Given the description of an element on the screen output the (x, y) to click on. 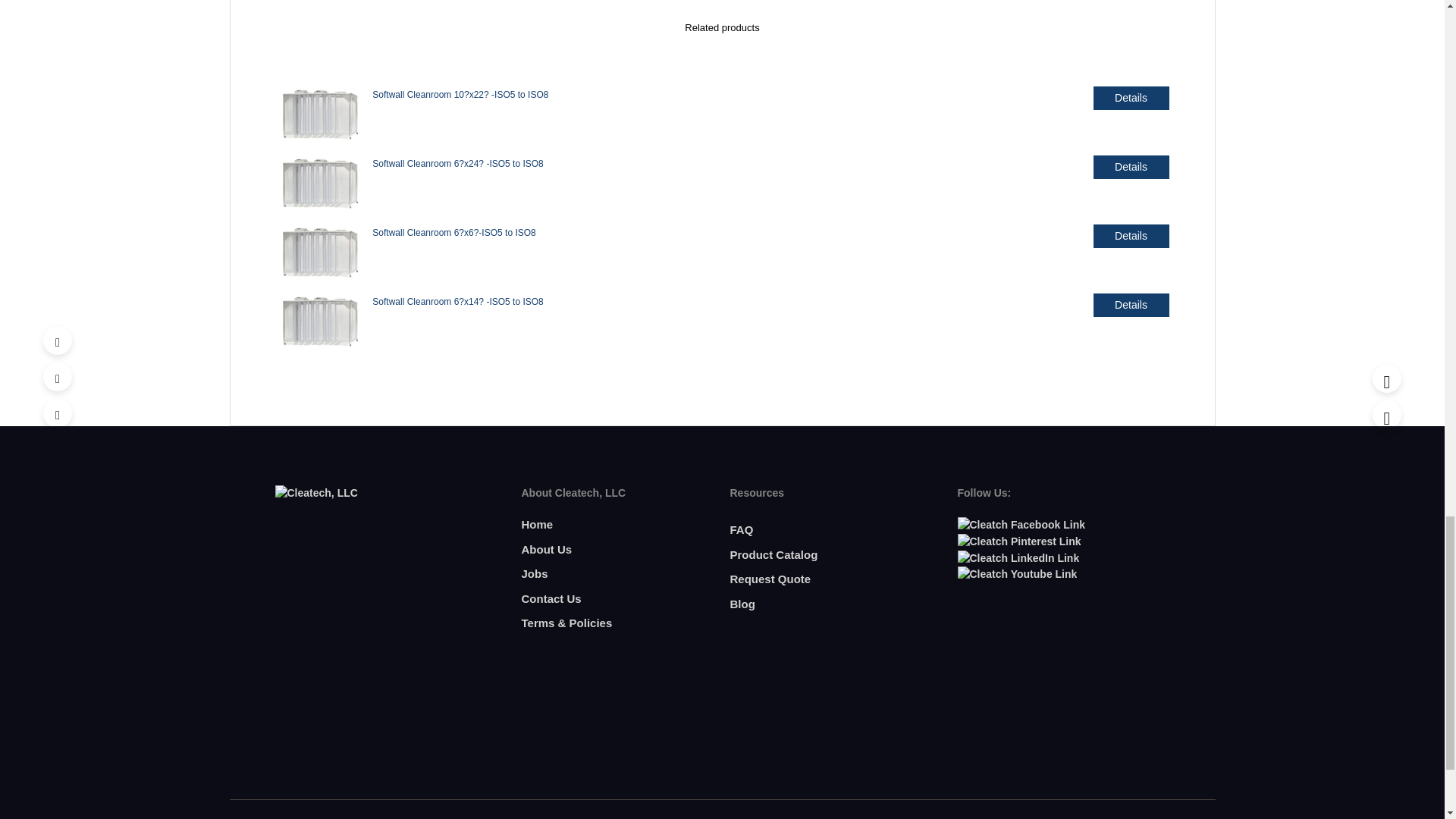
Details (1131, 236)
Contact Cleatech (550, 598)
Details (1131, 97)
Softwall Cleanroom 6?x14? -ISO5 to ISO8 (320, 323)
Cleatech Frequently Asked Questions (740, 529)
Cleatech Product Catalog (772, 554)
Employment Opportunities at Cleatech (534, 573)
Softwall Cleanroom 10?x22? -ISO5 to ISO8 (460, 94)
Softwall Cleanroom 10?x22? -ISO5 to ISO8 (320, 117)
Details (1131, 167)
Softwall Cleanroom 6?x6?-ISO5 to ISO8 (320, 254)
Softwall Cleanroom 6?x14? -ISO5 to ISO8 (457, 301)
About Cleatech (546, 549)
Softwall Cleanroom 6?x24? -ISO5 to ISO8 (457, 163)
Softwall Cleanroom 6?x24? -ISO5 to ISO8 (320, 186)
